Given the description of an element on the screen output the (x, y) to click on. 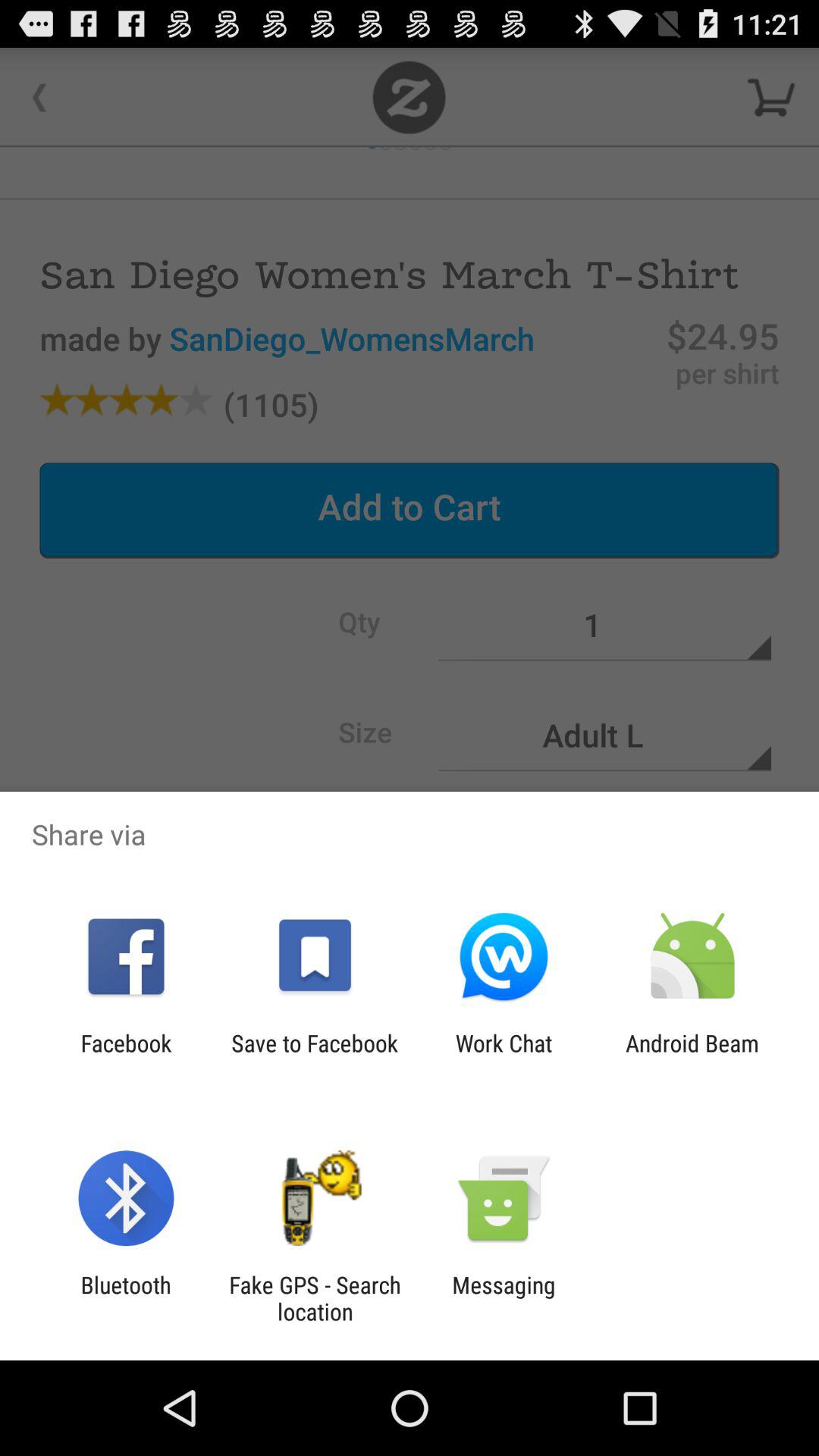
tap item next to the fake gps search (125, 1298)
